Given the description of an element on the screen output the (x, y) to click on. 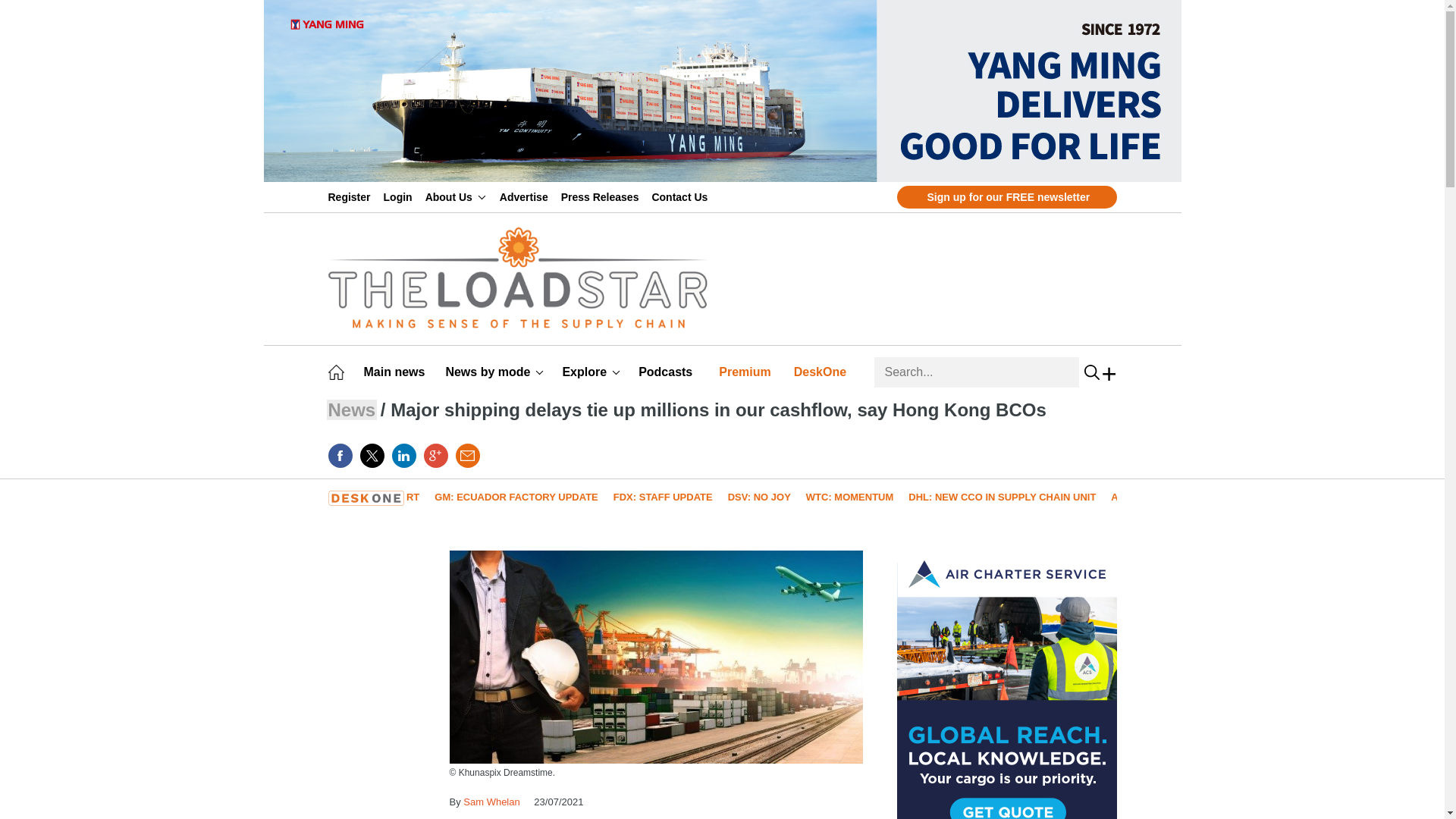
Register (351, 196)
About Us (455, 196)
Press Releases (602, 196)
DeskOne (822, 371)
Contact Us (681, 196)
Advertise (526, 196)
Premium (747, 371)
About Us (455, 196)
Explore (591, 371)
Register (351, 196)
